Given the description of an element on the screen output the (x, y) to click on. 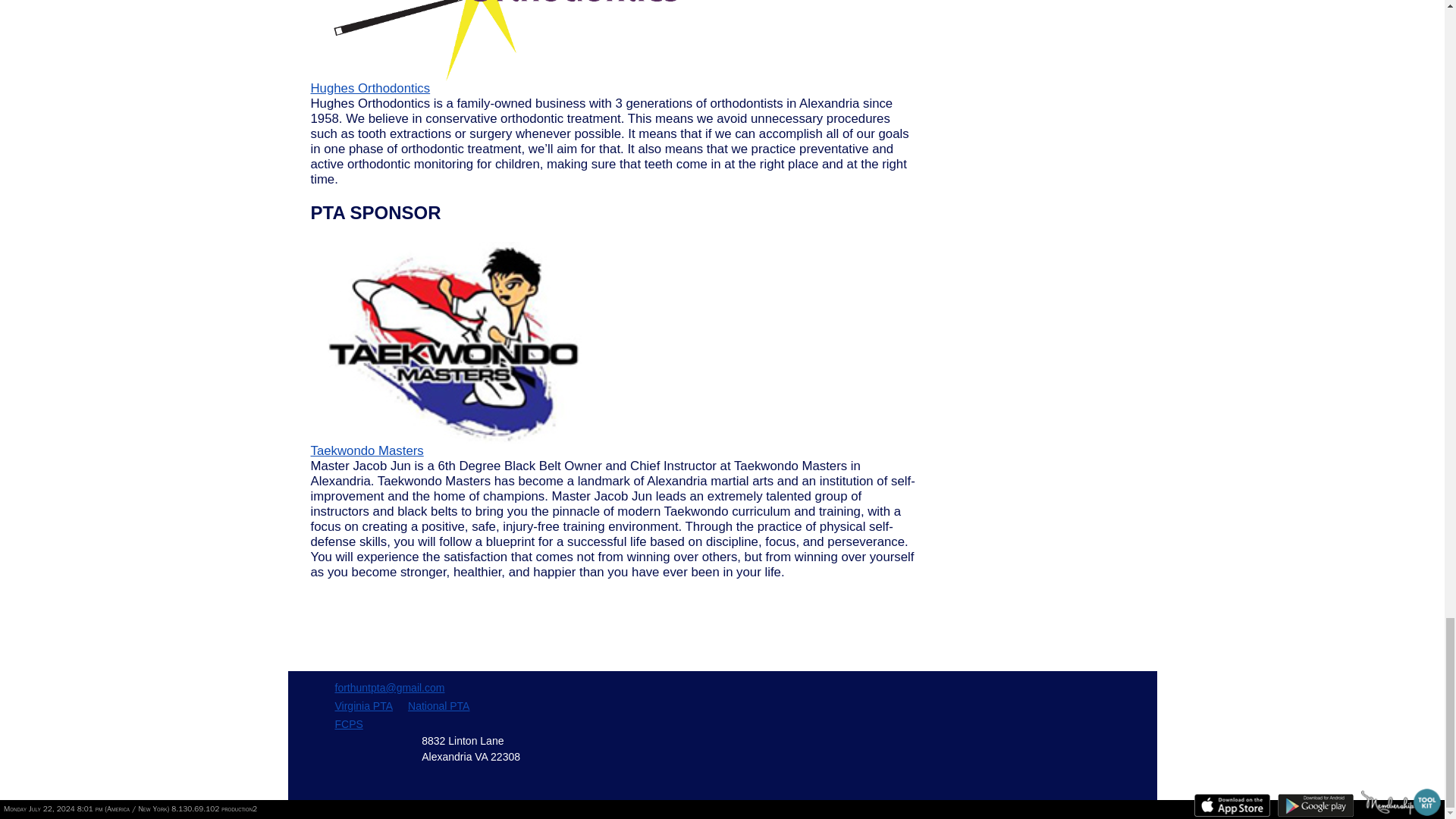
Get iPhone app on Apple App Store (1231, 804)
Get Android app on Google Play Store (1316, 804)
